Given the description of an element on the screen output the (x, y) to click on. 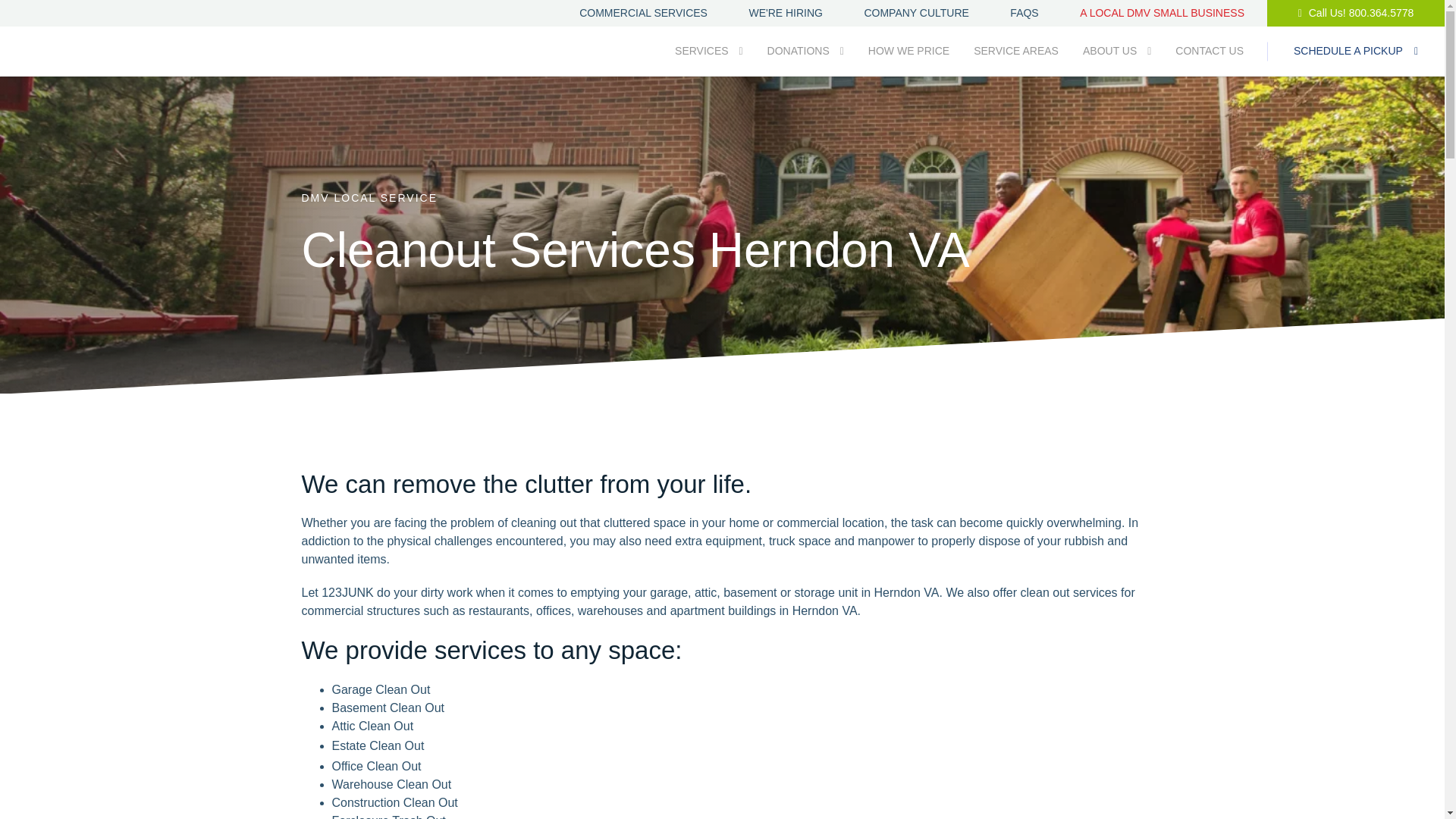
ABOUT US (1117, 50)
SERVICE AREAS (1016, 50)
SERVICES (708, 50)
WE'RE HIRING (785, 12)
DONATIONS (805, 50)
COMPANY CULTURE (915, 12)
FAQS (1024, 12)
COMMERCIAL SERVICES (643, 12)
HOW WE PRICE (908, 50)
